Given the description of an element on the screen output the (x, y) to click on. 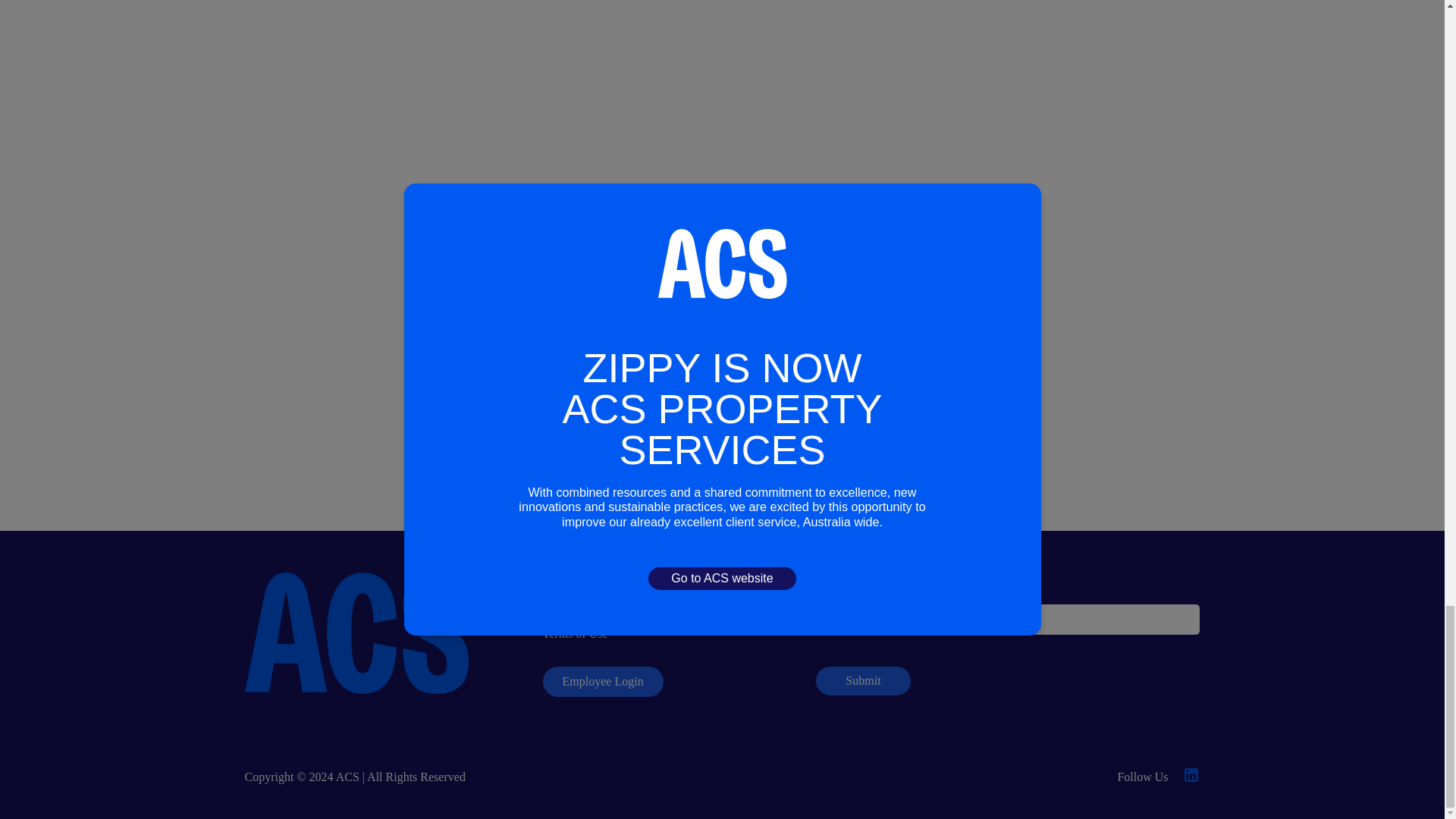
Submit (863, 680)
